Given the description of an element on the screen output the (x, y) to click on. 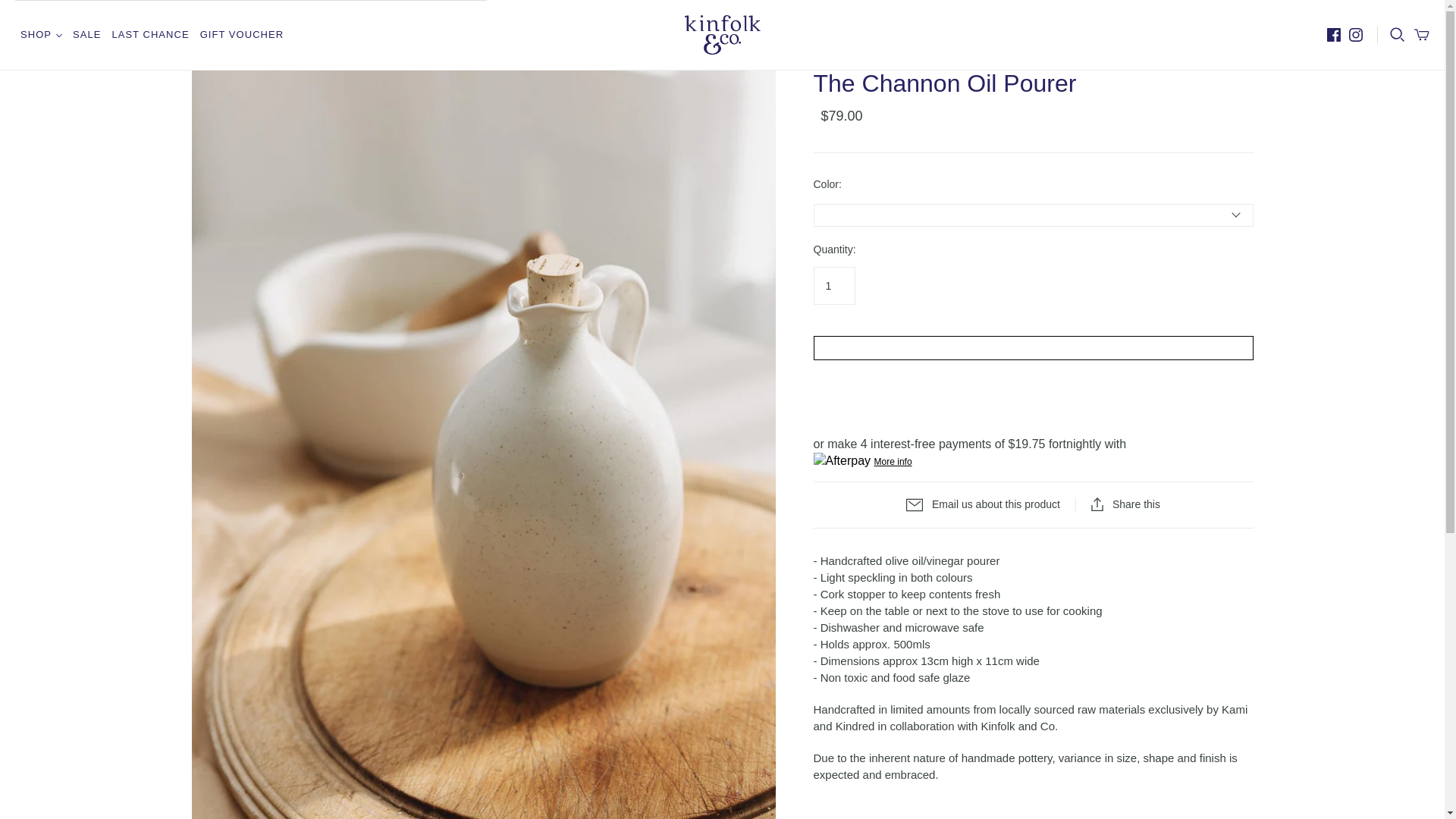
GIFT VOUCHER (241, 34)
SHOP (40, 34)
LAST CHANCE (149, 34)
1 (833, 285)
